Given the description of an element on the screen output the (x, y) to click on. 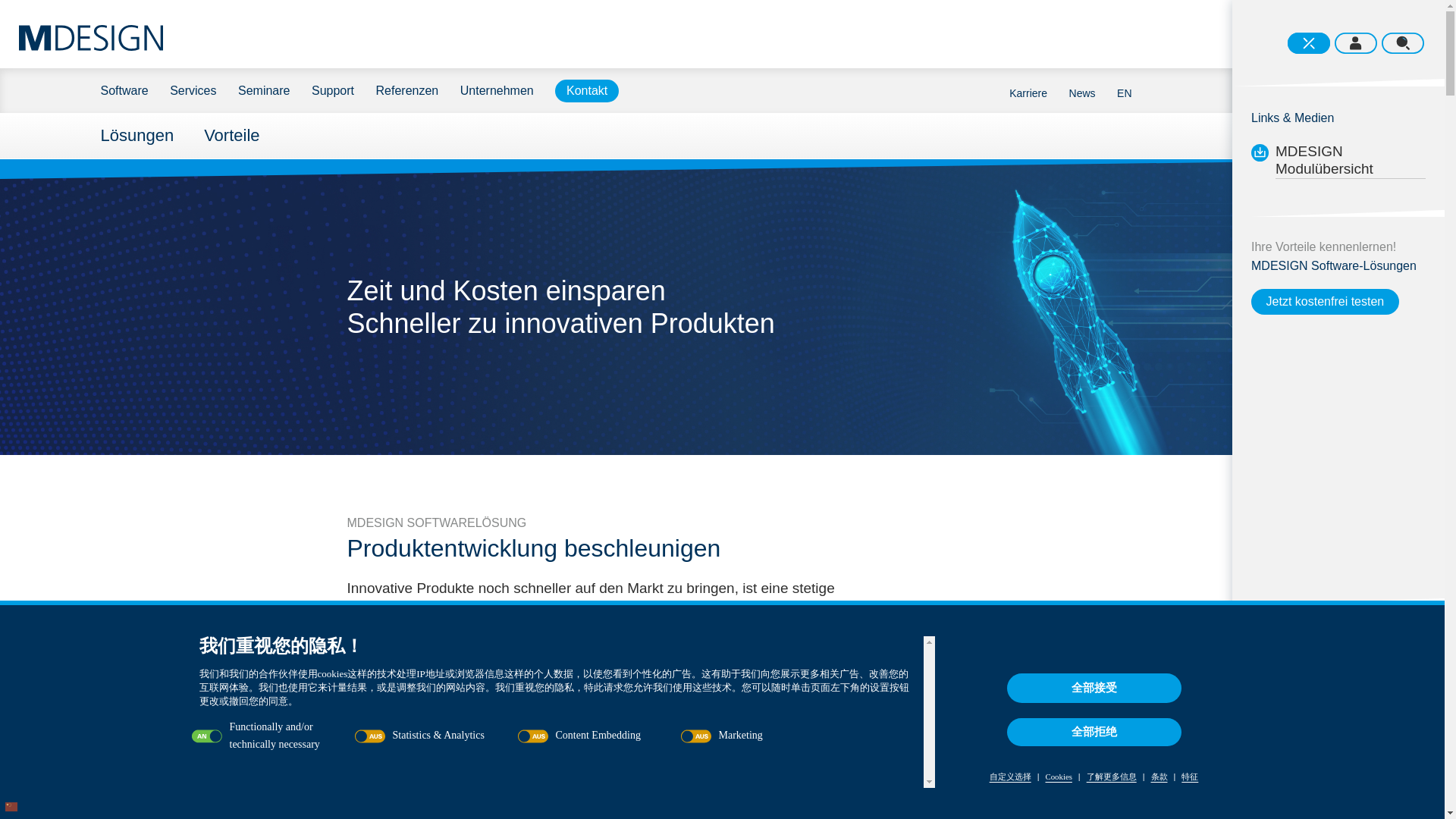
English (1123, 90)
Language: zh (11, 806)
Language: zh (11, 806)
Cookies (1058, 776)
Jetzt kostenfrei testen (1324, 301)
